Given the description of an element on the screen output the (x, y) to click on. 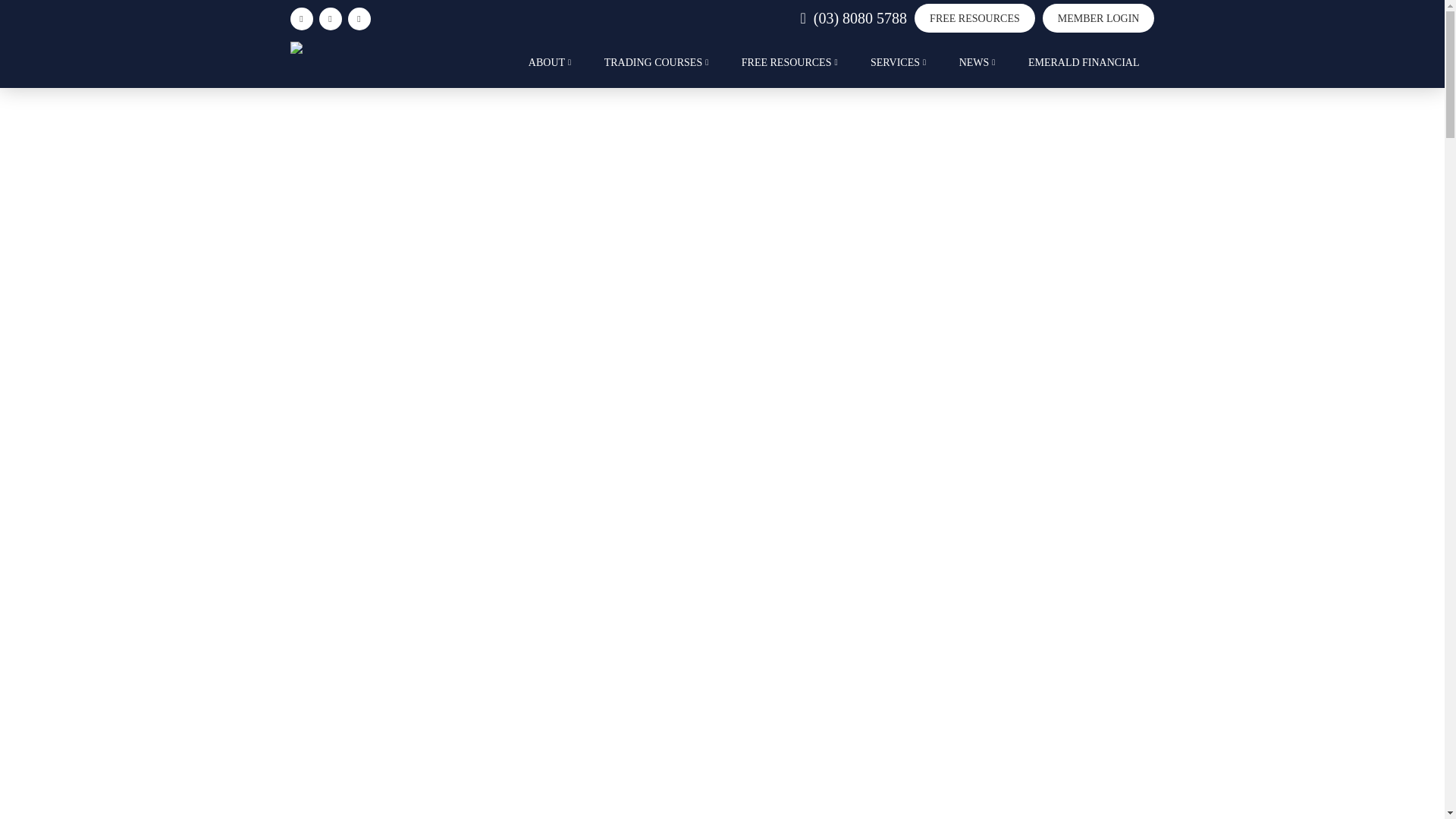
MEMBER LOGIN (1098, 18)
EMERALD FINANCIAL (1083, 70)
ABOUT (549, 70)
FREE RESOURCES (974, 18)
NEWS (976, 70)
TRADING COURSES (656, 70)
SERVICES (898, 70)
FREE RESOURCES (789, 70)
